Given the description of an element on the screen output the (x, y) to click on. 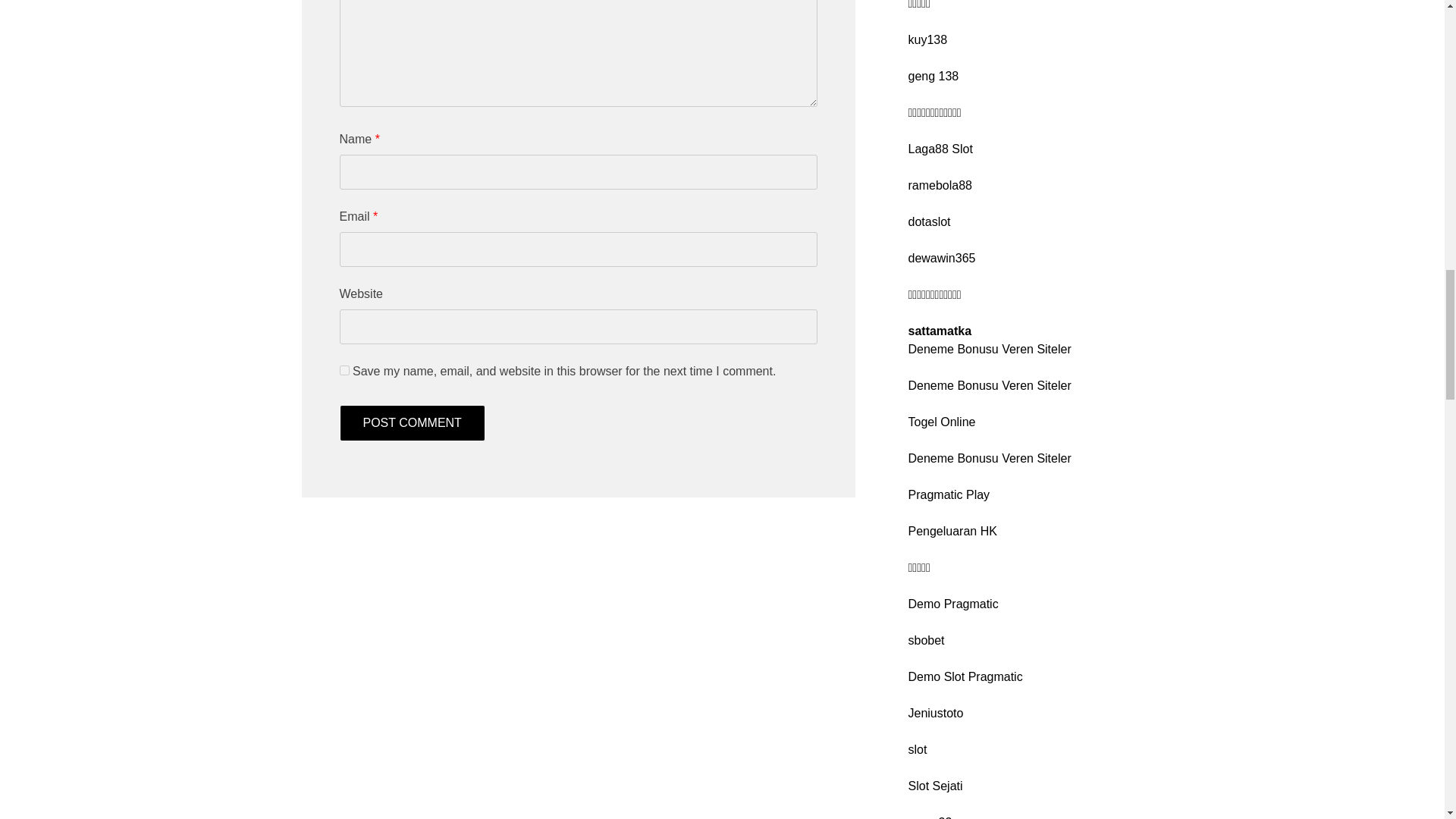
Post Comment (411, 422)
yes (344, 370)
Post Comment (411, 422)
